Given the description of an element on the screen output the (x, y) to click on. 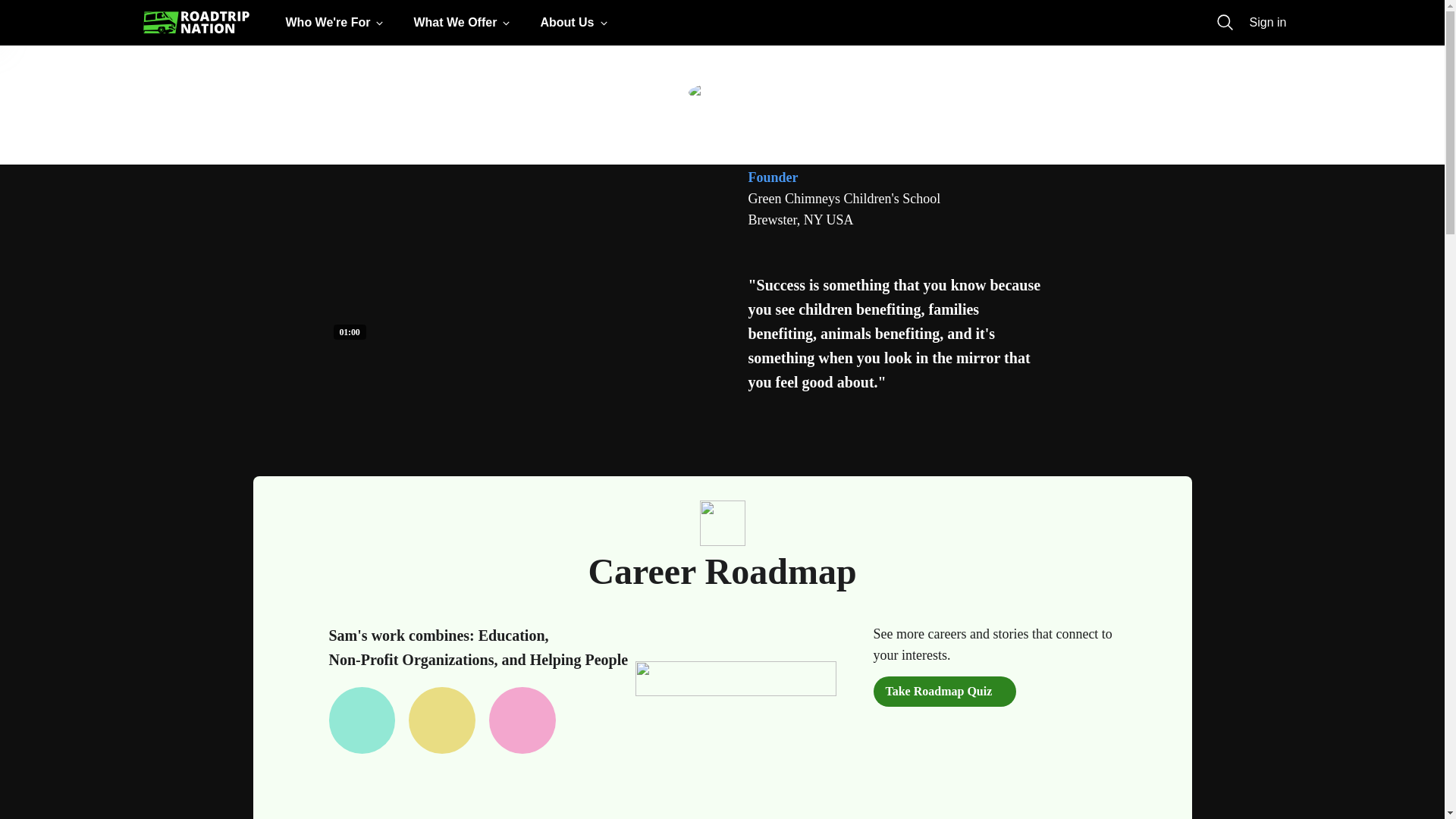
Who We're For (336, 22)
What We Offer (464, 22)
Founder (772, 177)
About Us (576, 22)
Take Roadmap Quiz (944, 691)
Sign in (1268, 22)
Search (1224, 22)
